Given the description of an element on the screen output the (x, y) to click on. 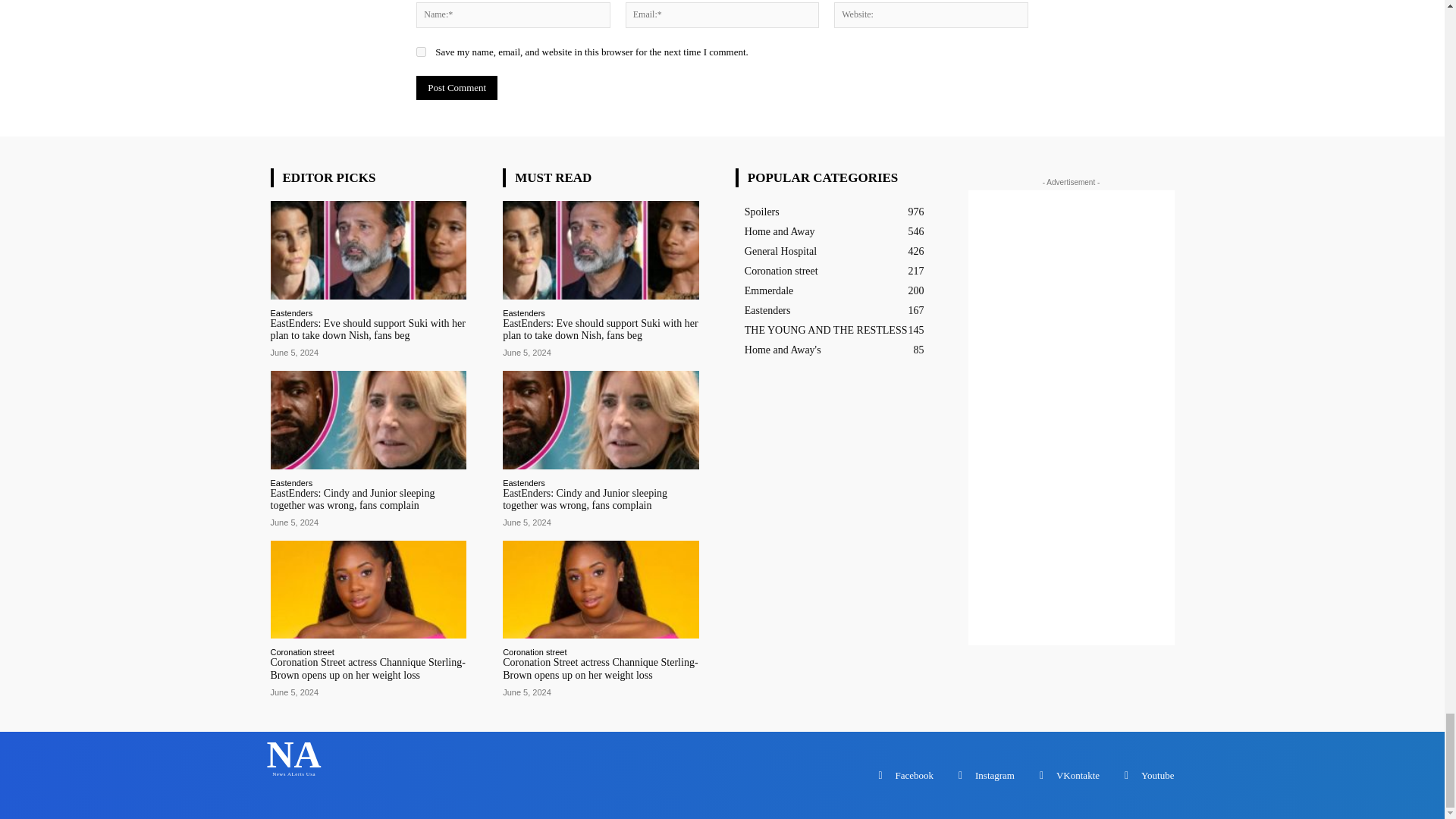
Post Comment (456, 87)
yes (421, 51)
